Given the description of an element on the screen output the (x, y) to click on. 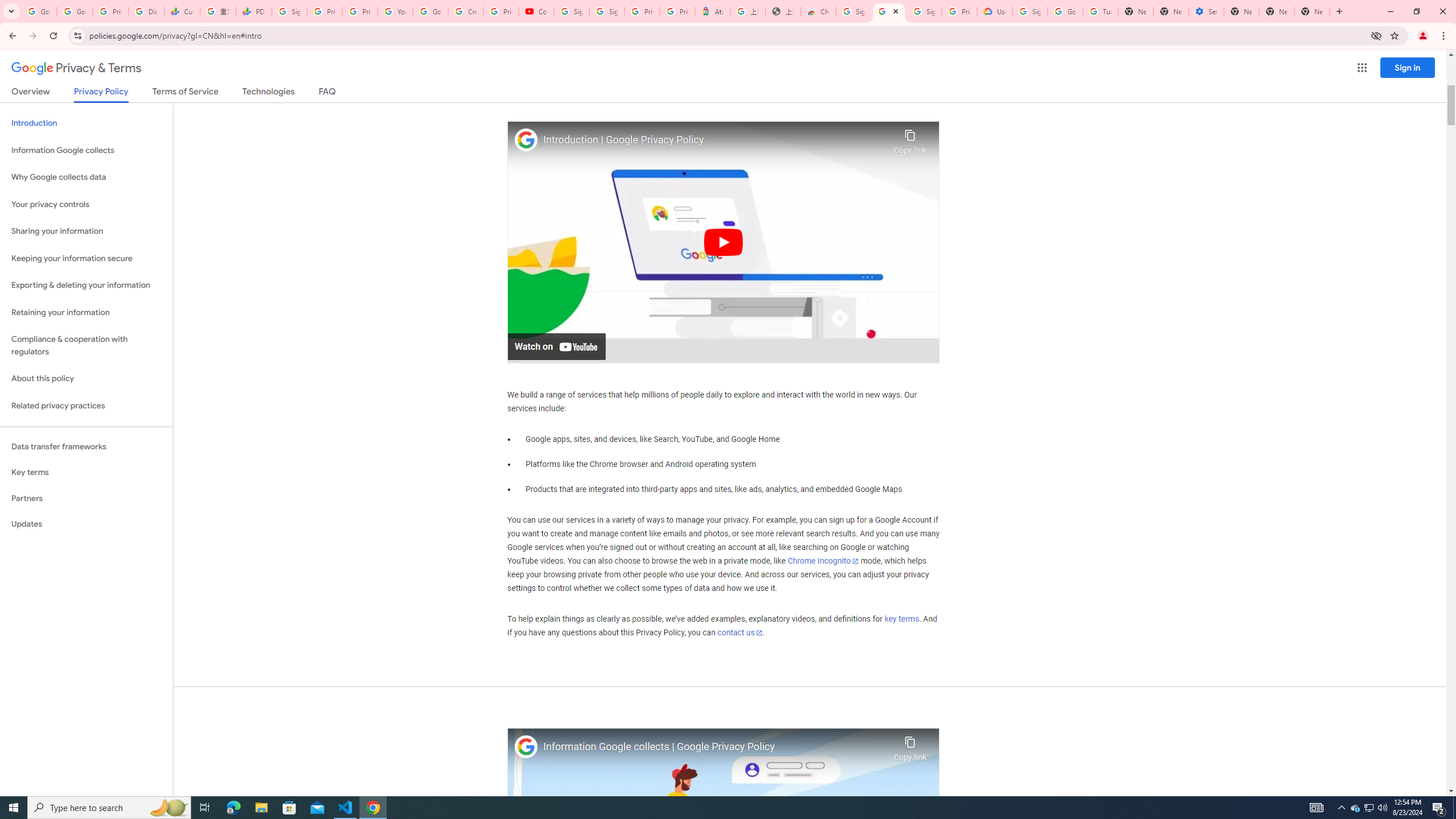
Google Account Help (1064, 11)
Partners (86, 497)
Key terms (86, 472)
Currencies - Google Finance (181, 11)
Sign in - Google Accounts (605, 11)
Privacy Checkup (359, 11)
Turn cookies on or off - Computer - Google Account Help (1099, 11)
FAQ (327, 93)
